Given the description of an element on the screen output the (x, y) to click on. 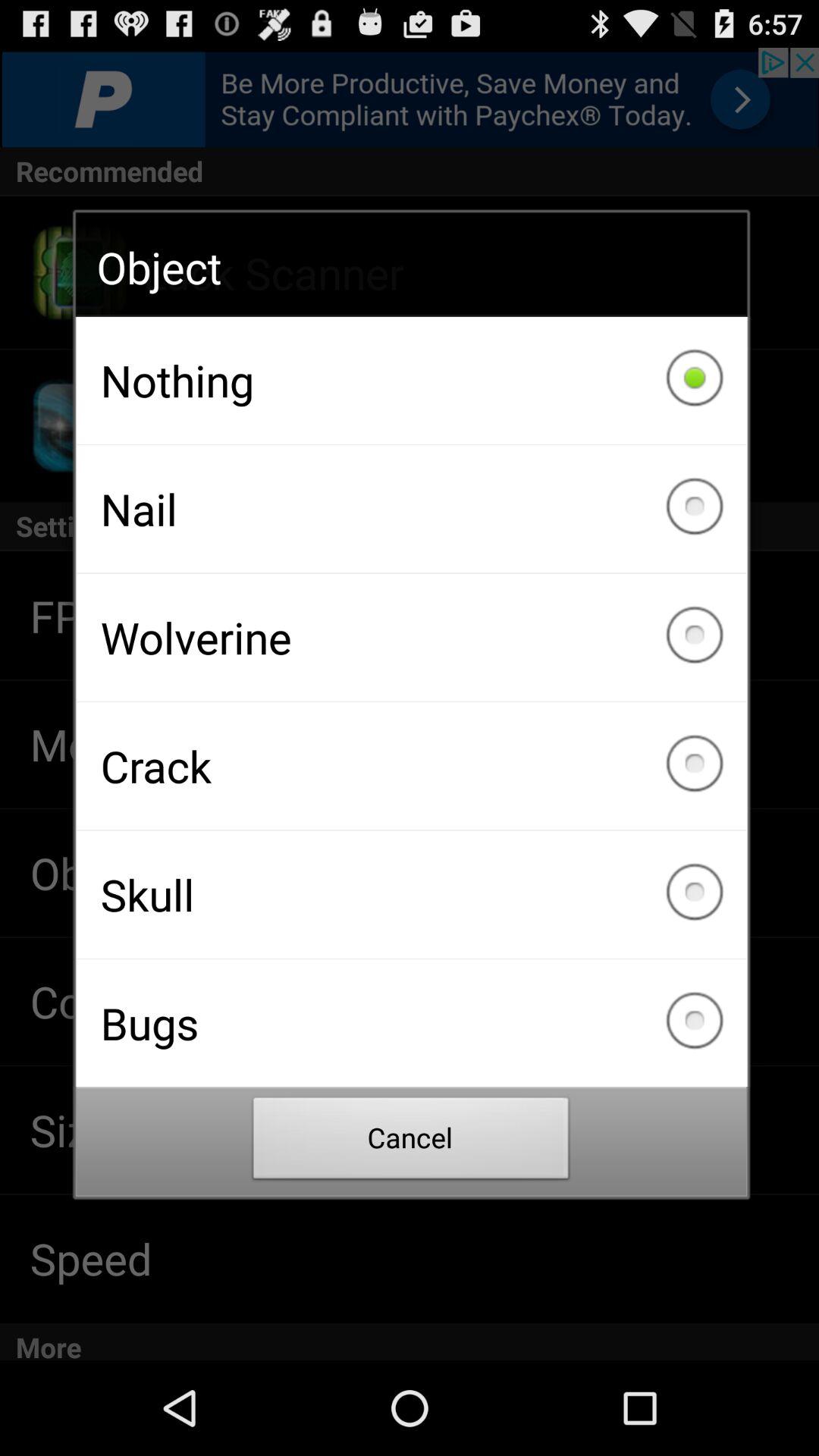
turn off cancel button (410, 1142)
